Given the description of an element on the screen output the (x, y) to click on. 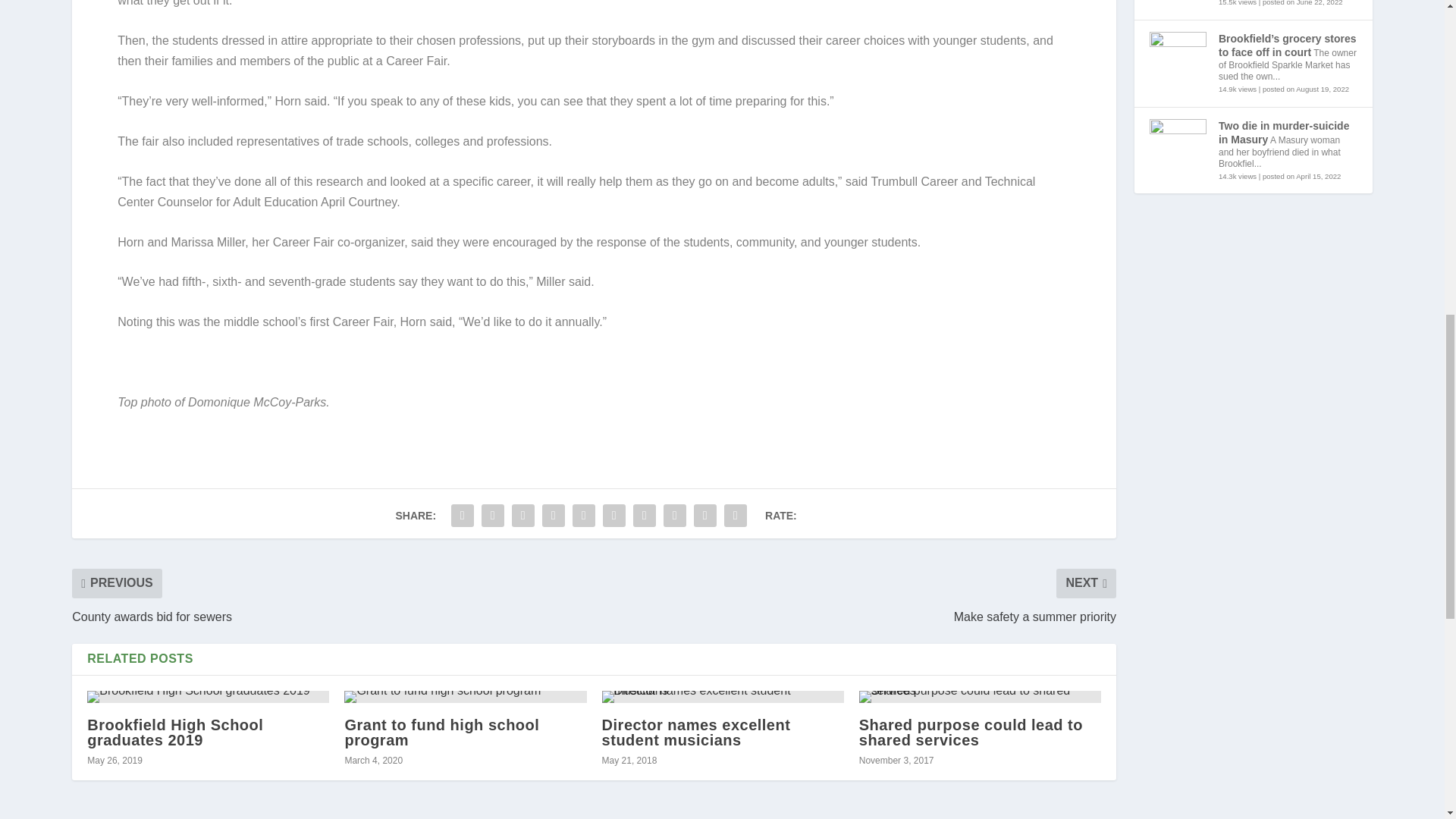
Share "A career-building exercise" via Print (735, 515)
Share "A career-building exercise" via Twitter (492, 515)
Grant to fund high school program (464, 695)
Share "A career-building exercise" via Tumblr (553, 515)
Share "A career-building exercise" via Buffer (643, 515)
Share "A career-building exercise" via Pinterest (583, 515)
Share "A career-building exercise" via Facebook (461, 515)
Share "A career-building exercise" via Stumbleupon (674, 515)
Share "A career-building exercise" via LinkedIn (613, 515)
Share "A career-building exercise" via Email (705, 515)
Brookfield High School graduates 2019 (208, 695)
